Given the description of an element on the screen output the (x, y) to click on. 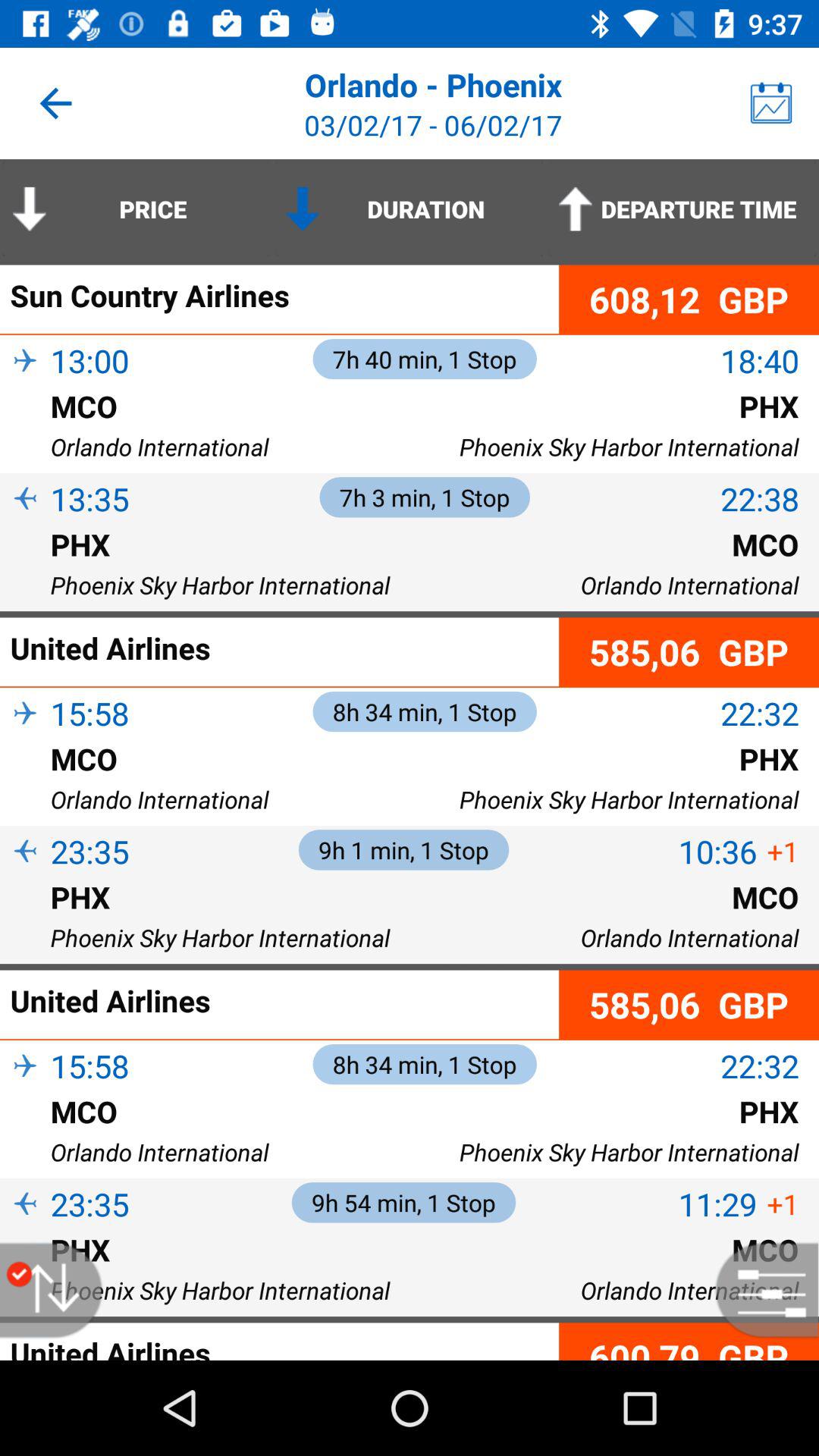
tap item below 13:35 (25, 524)
